Given the description of an element on the screen output the (x, y) to click on. 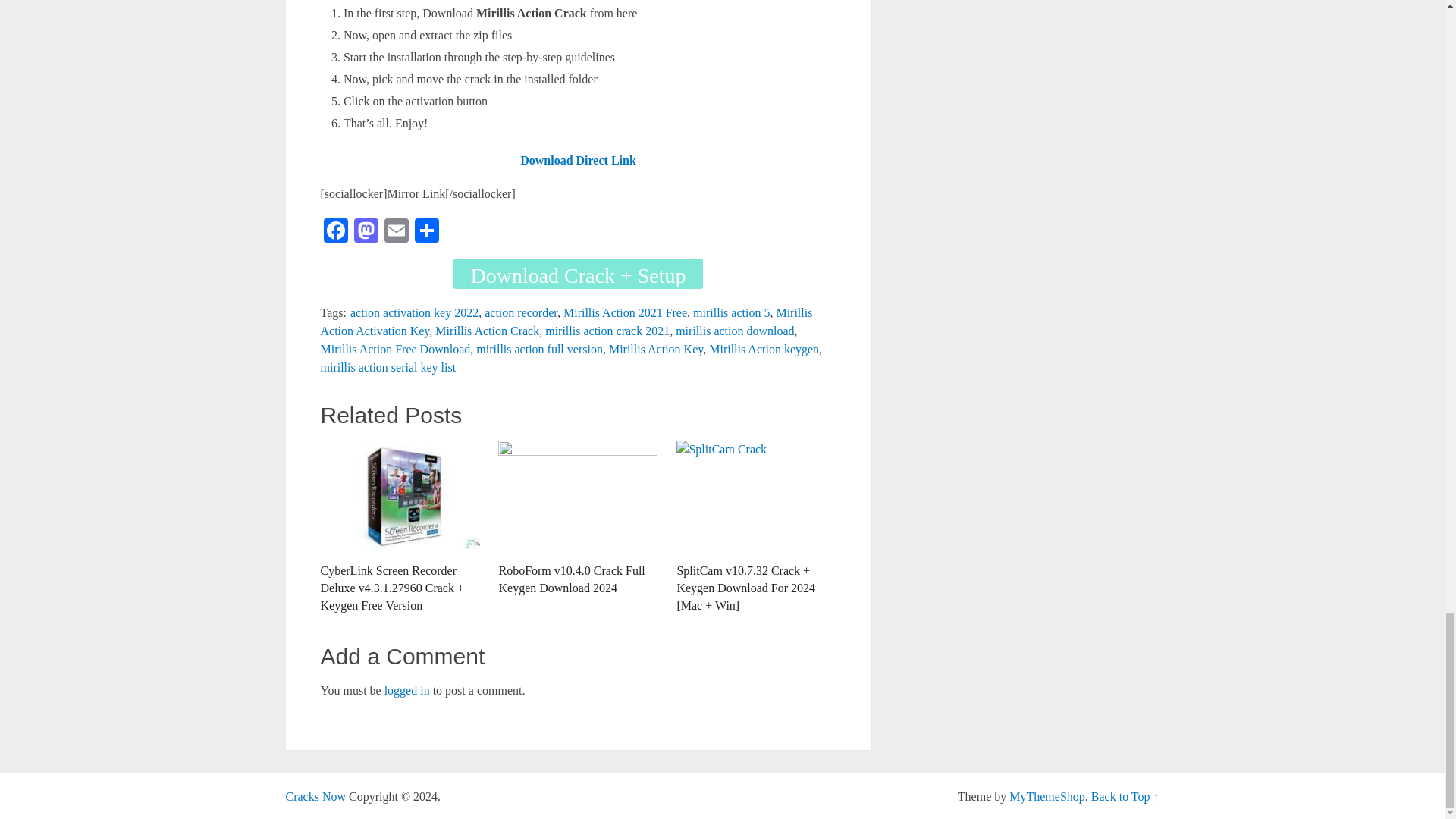
Mirillis Action keygen (763, 349)
Download Direct Link (577, 160)
Mastodon (365, 232)
Mirillis Action Crack (486, 330)
Facebook (335, 232)
mirillis action download (734, 330)
Mirillis Action Key (655, 349)
Softwares with Crack, Patch, Keygen and Keys (315, 796)
mirillis action serial key list (387, 367)
RoboForm v10.4.0 Crack Full Keygen Download 2024 (577, 518)
